Given the description of an element on the screen output the (x, y) to click on. 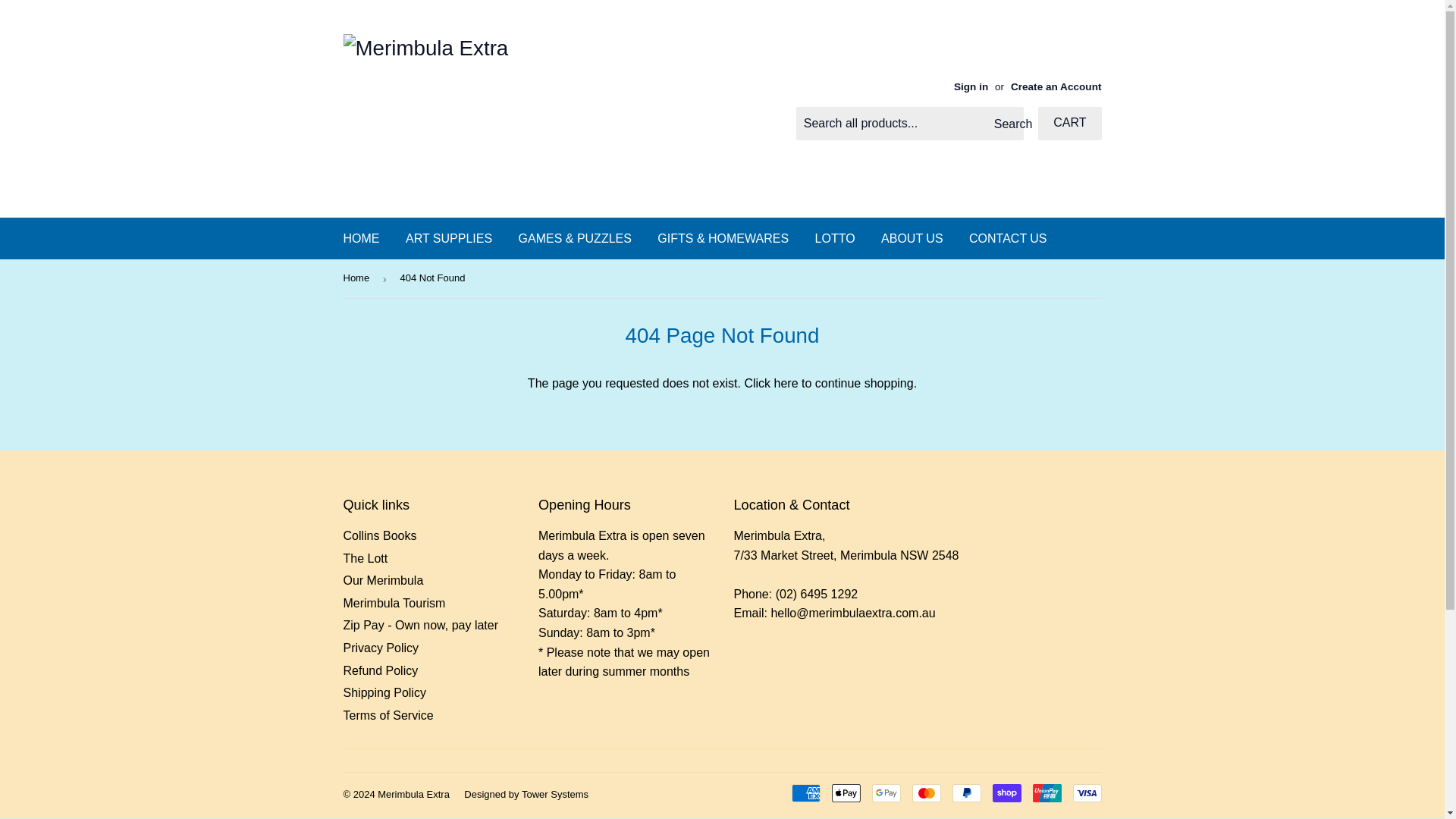
Visa (1085, 792)
CART (1069, 123)
American Express (806, 792)
Shop Pay (1005, 792)
Apple Pay (845, 792)
Google Pay (886, 792)
Search (1006, 124)
Mastercard (925, 792)
Create an Account (1056, 86)
PayPal (966, 792)
Sign in (970, 86)
Union Pay (1046, 792)
Click here to view our location map (846, 554)
